Given the description of an element on the screen output the (x, y) to click on. 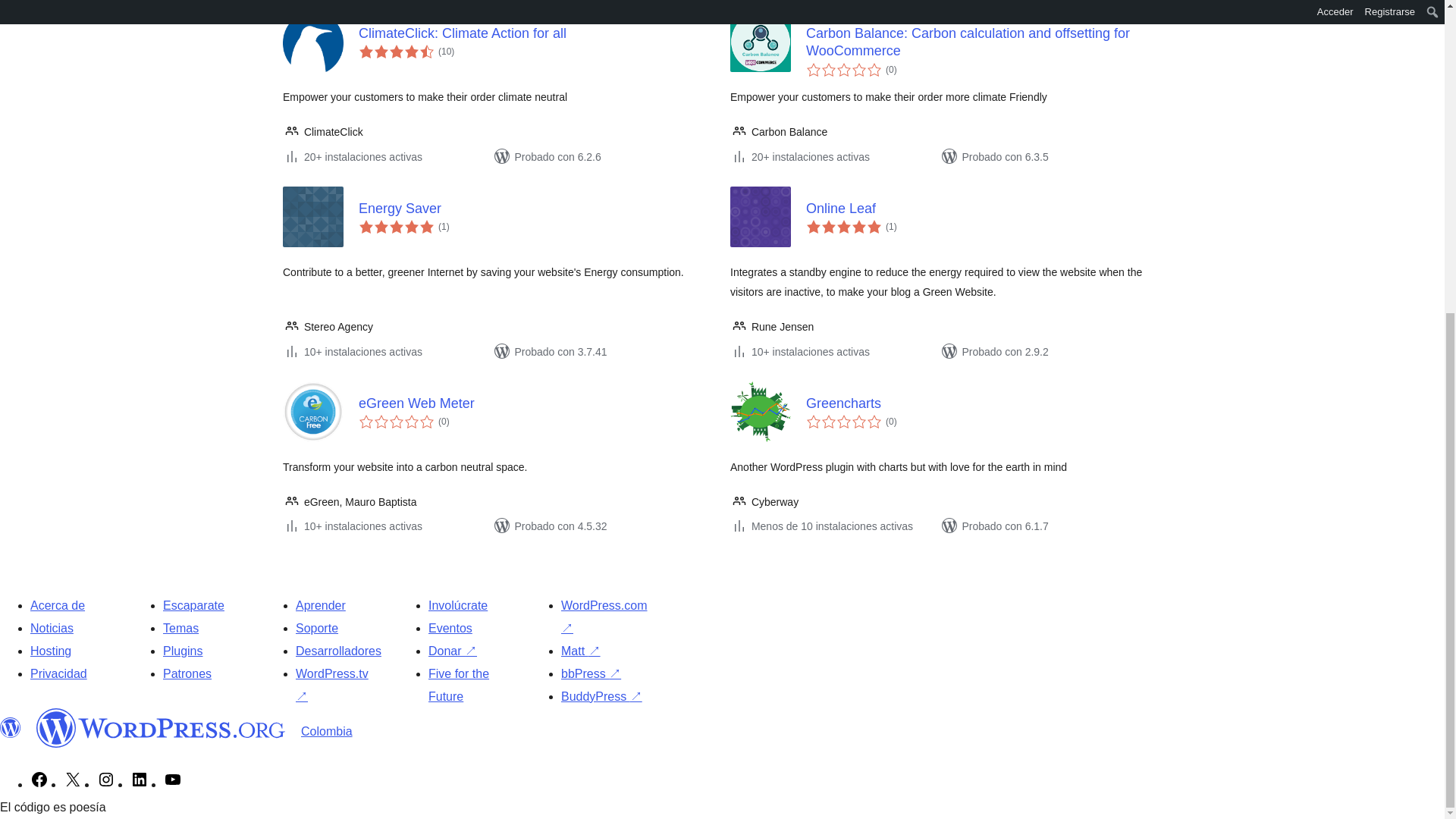
eGreen Web Meter (536, 403)
Acerca de (57, 604)
Online Leaf (983, 208)
Energy Saver (536, 208)
ClimateClick: Climate Action for all (536, 33)
Greencharts (983, 403)
Noticias (52, 627)
